Given the description of an element on the screen output the (x, y) to click on. 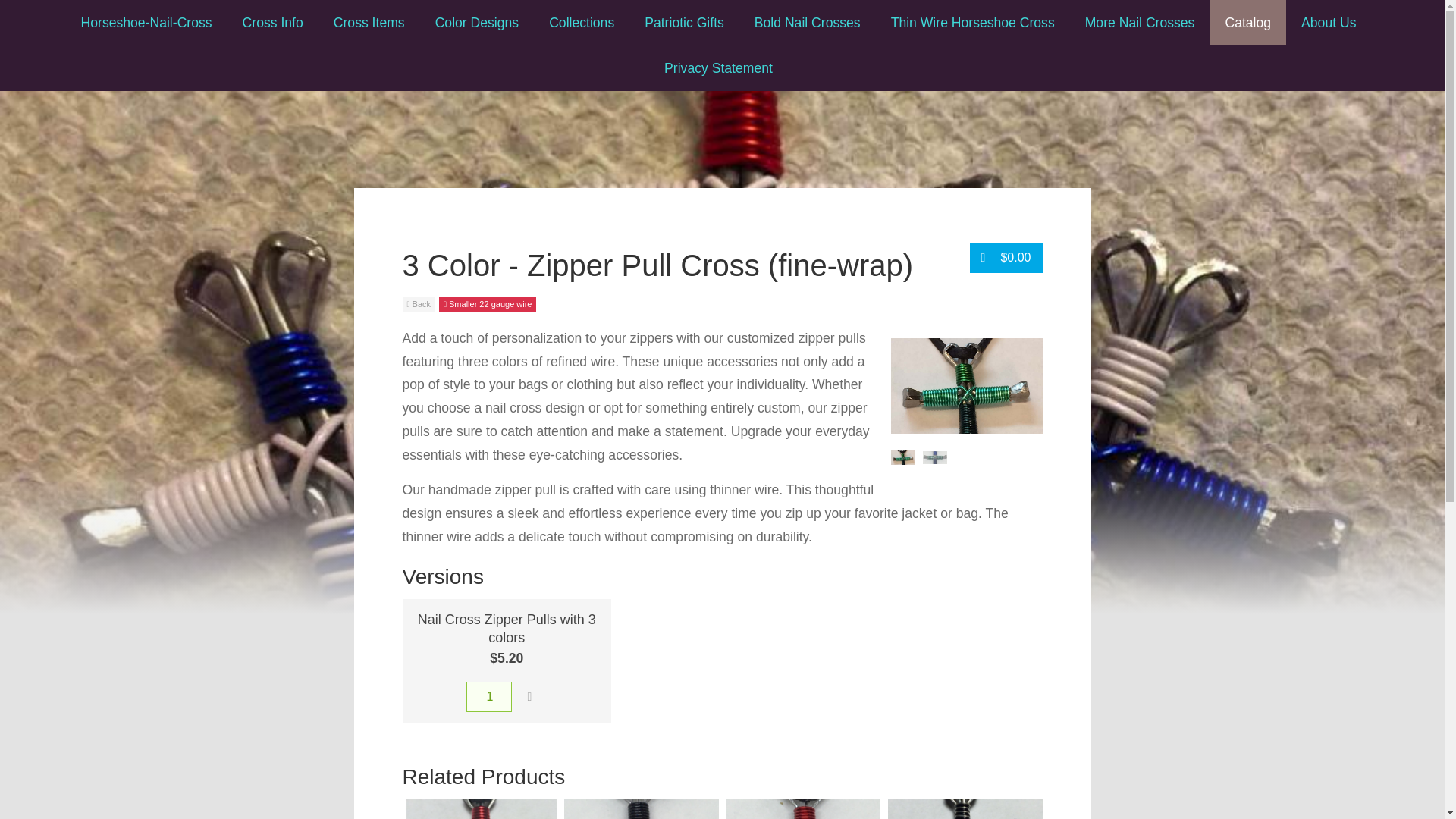
1 (488, 696)
Collections (581, 22)
Cross Items (369, 22)
Your cart is empty. (1005, 257)
Patriotic Gifts (683, 22)
Cross Info (272, 22)
Horseshoe-Nail-Cross (146, 22)
Color Designs (477, 22)
